Given the description of an element on the screen output the (x, y) to click on. 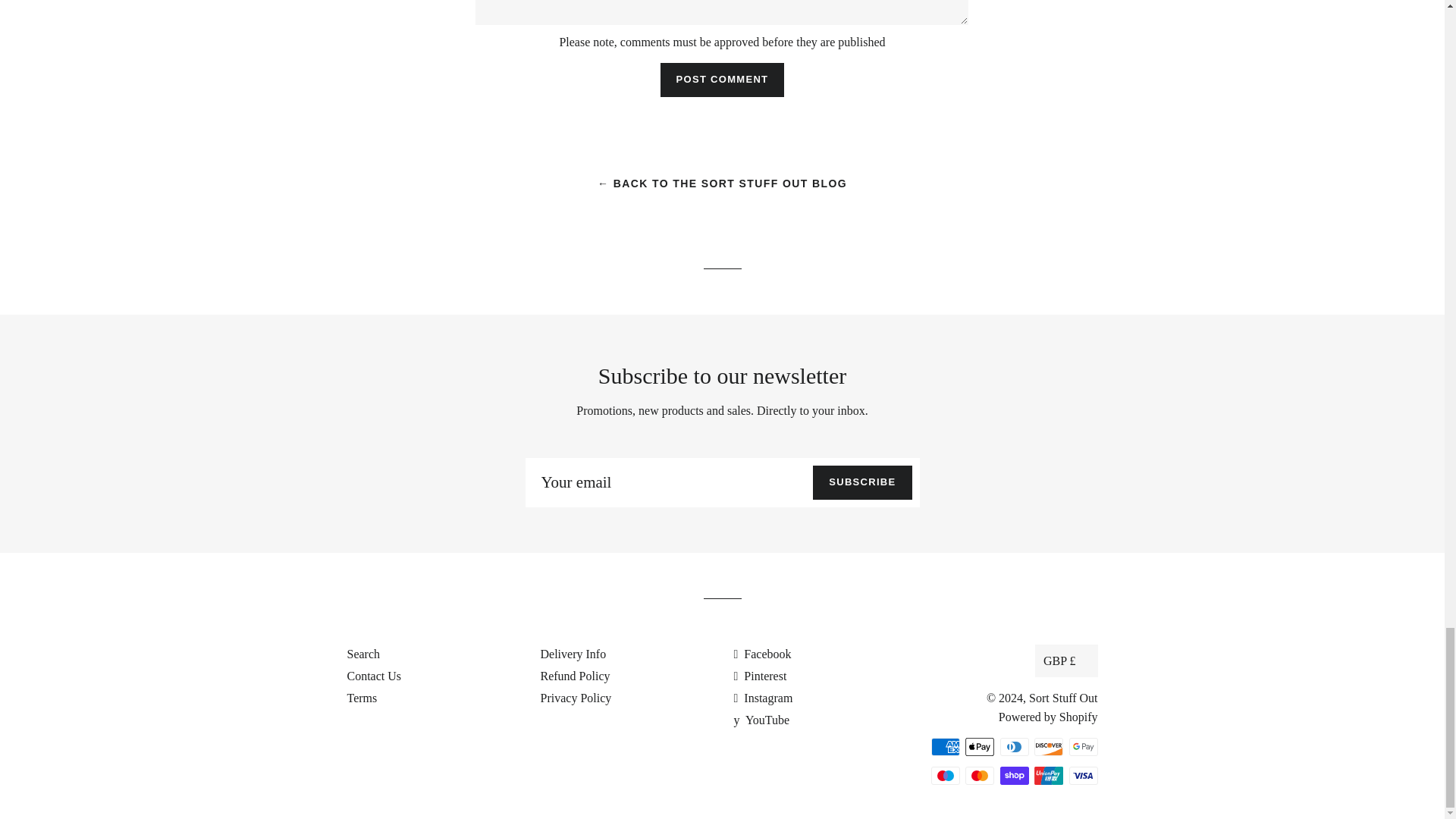
Maestro (945, 775)
Union Pay (1047, 775)
Diners Club (1012, 746)
American Express (945, 746)
Sort Stuff Out on Facebook (762, 653)
Sort Stuff Out on Instagram (763, 697)
Discover (1047, 746)
Sort Stuff Out on YouTube (761, 719)
Post comment (722, 79)
Shop Pay (1012, 775)
Sort Stuff Out on Pinterest (760, 675)
Visa (1082, 775)
Google Pay (1082, 746)
Apple Pay (979, 746)
Mastercard (979, 775)
